Given the description of an element on the screen output the (x, y) to click on. 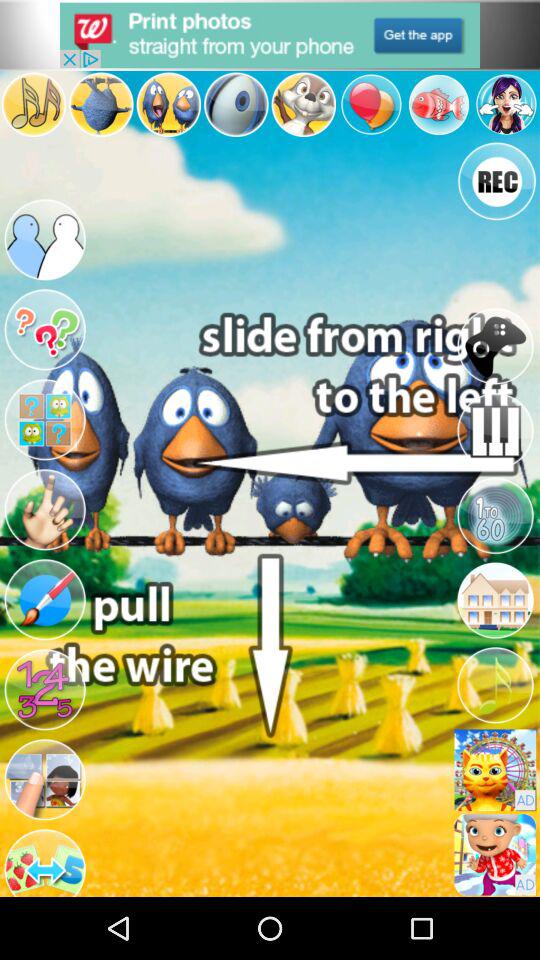
view advertisement (495, 854)
